Given the description of an element on the screen output the (x, y) to click on. 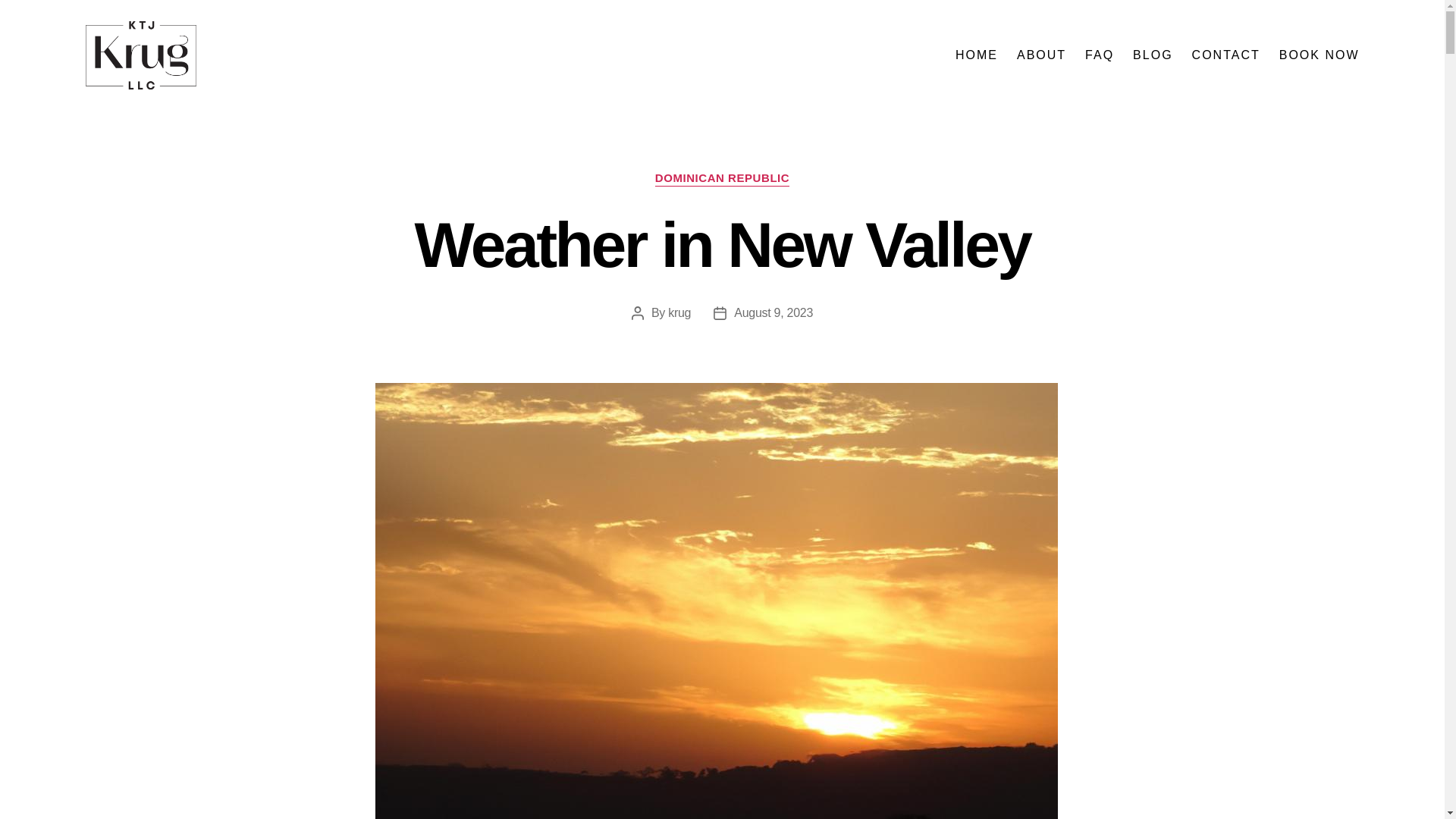
DOMINICAN REPUBLIC (722, 178)
BOOK NOW (1319, 54)
CONTACT (1226, 54)
FAQ (1098, 54)
HOME (976, 54)
krug (679, 312)
ABOUT (1040, 54)
August 9, 2023 (772, 312)
BLOG (1152, 54)
